Given the description of an element on the screen output the (x, y) to click on. 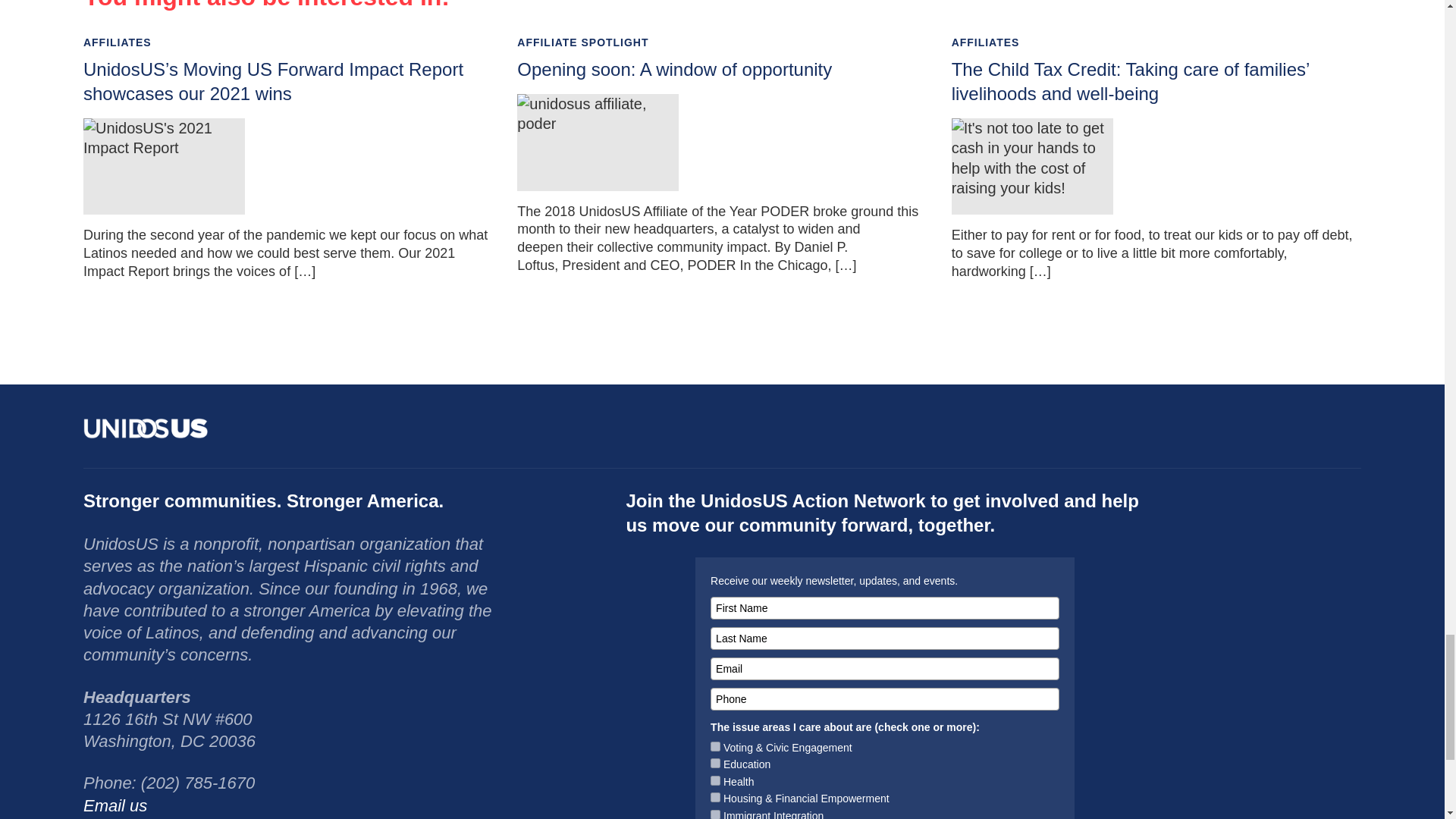
Health (715, 780)
Email us (114, 805)
Opening soon: A window of opportunity (673, 68)
Education (715, 763)
Immigrant Integration (715, 814)
